Given the description of an element on the screen output the (x, y) to click on. 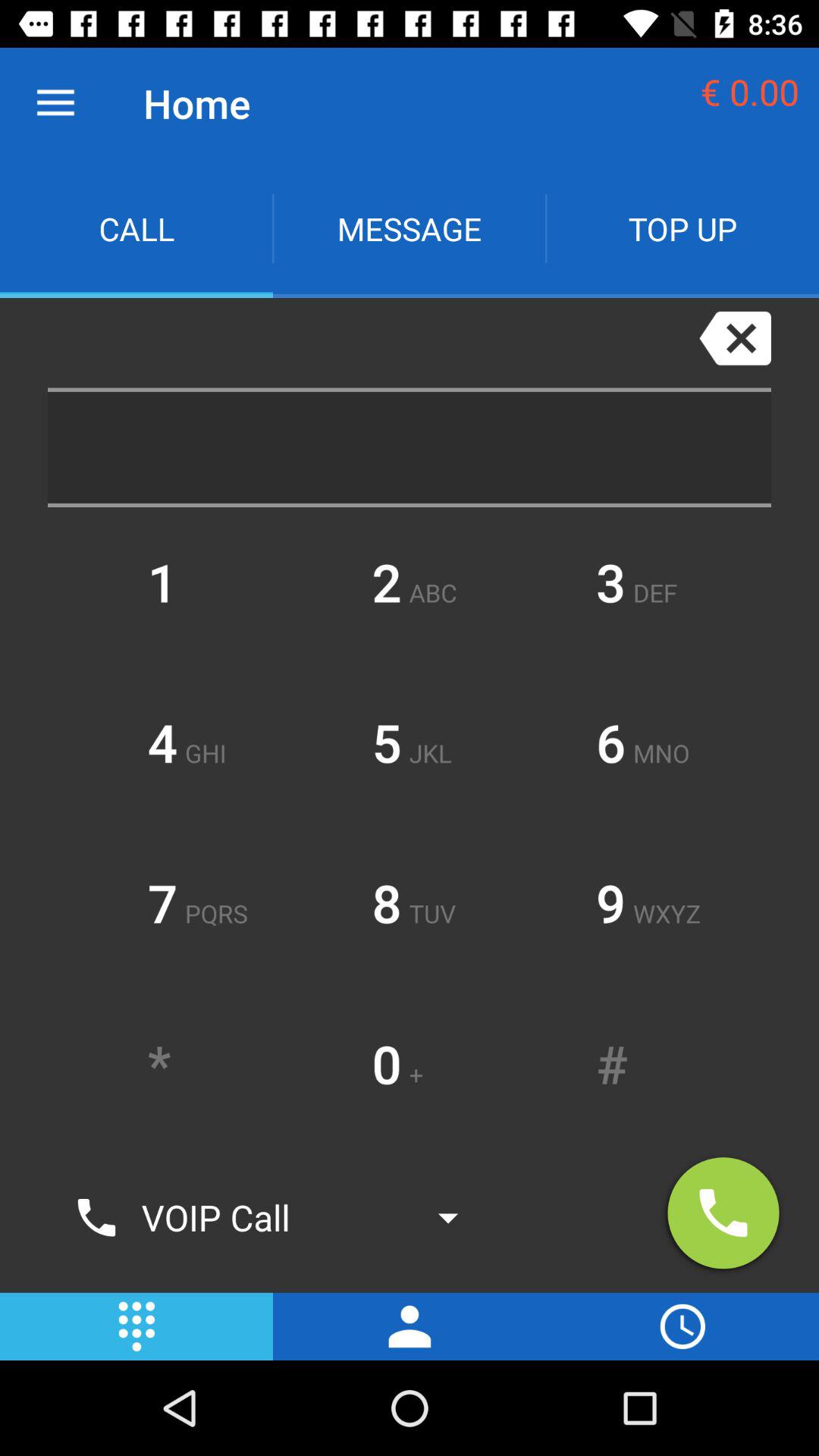
click icon next to home (55, 103)
